Given the description of an element on the screen output the (x, y) to click on. 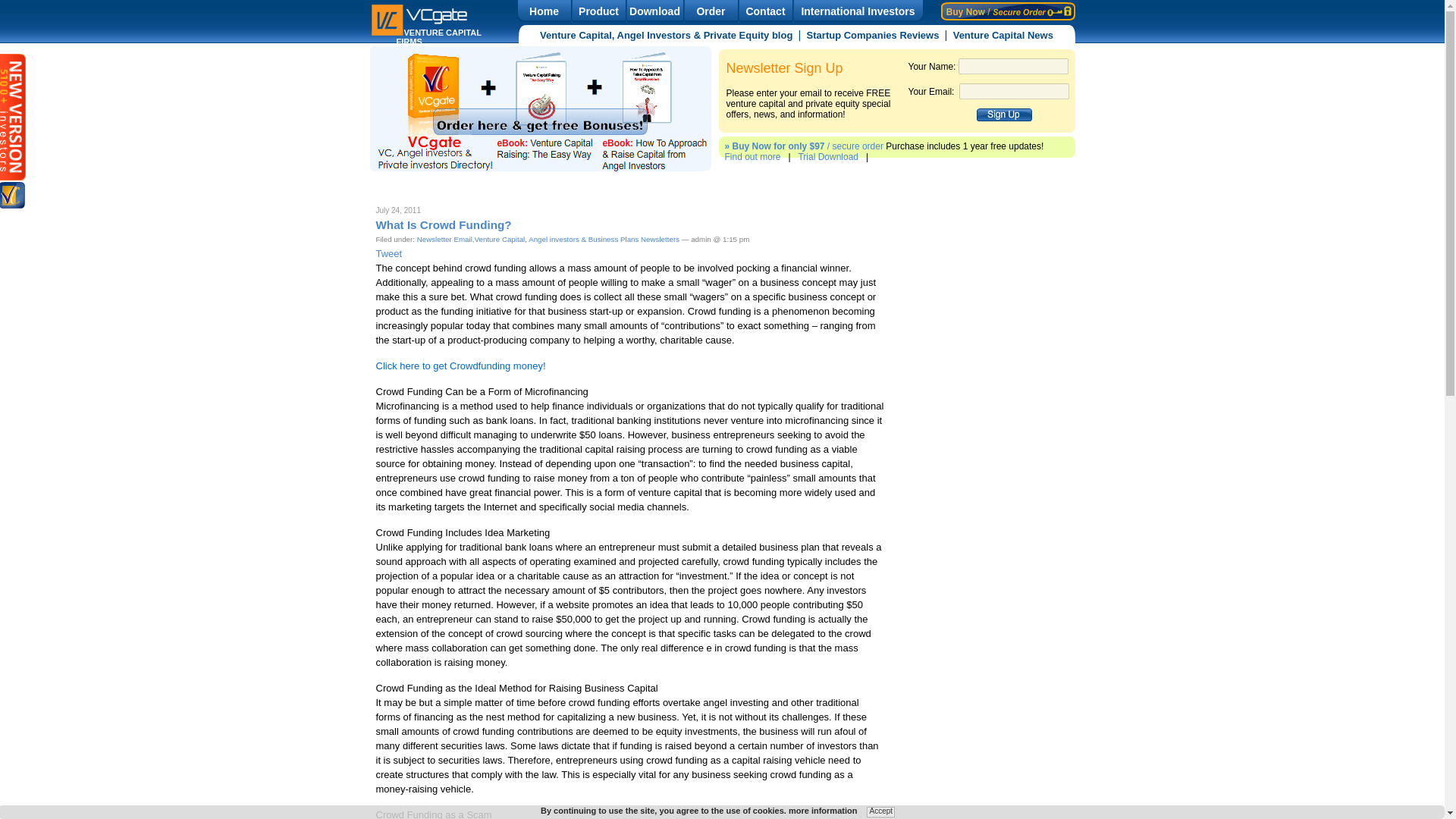
Order (710, 11)
Home (543, 11)
Trial Download (828, 156)
Startup Companies Reviews (873, 34)
Click here to get Crowdfunding money! (460, 365)
Tweet (389, 253)
Venture Capital News (1002, 34)
Download (654, 11)
Newsletter Email (443, 239)
Product (598, 11)
